Given the description of an element on the screen output the (x, y) to click on. 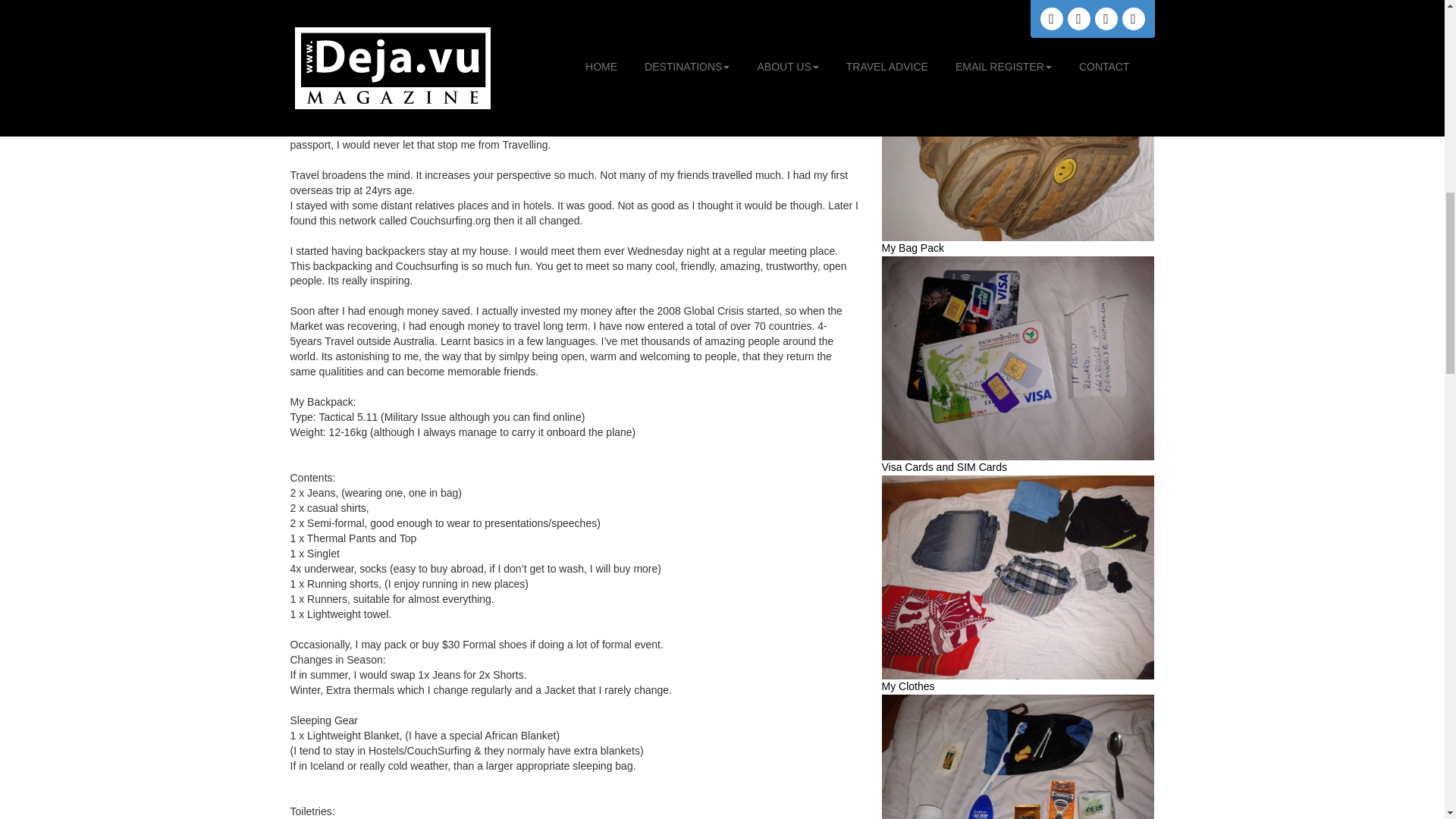
My Bag Pack (911, 247)
My Clothes (907, 686)
Visa Cards and SIM Cards (943, 467)
